Given the description of an element on the screen output the (x, y) to click on. 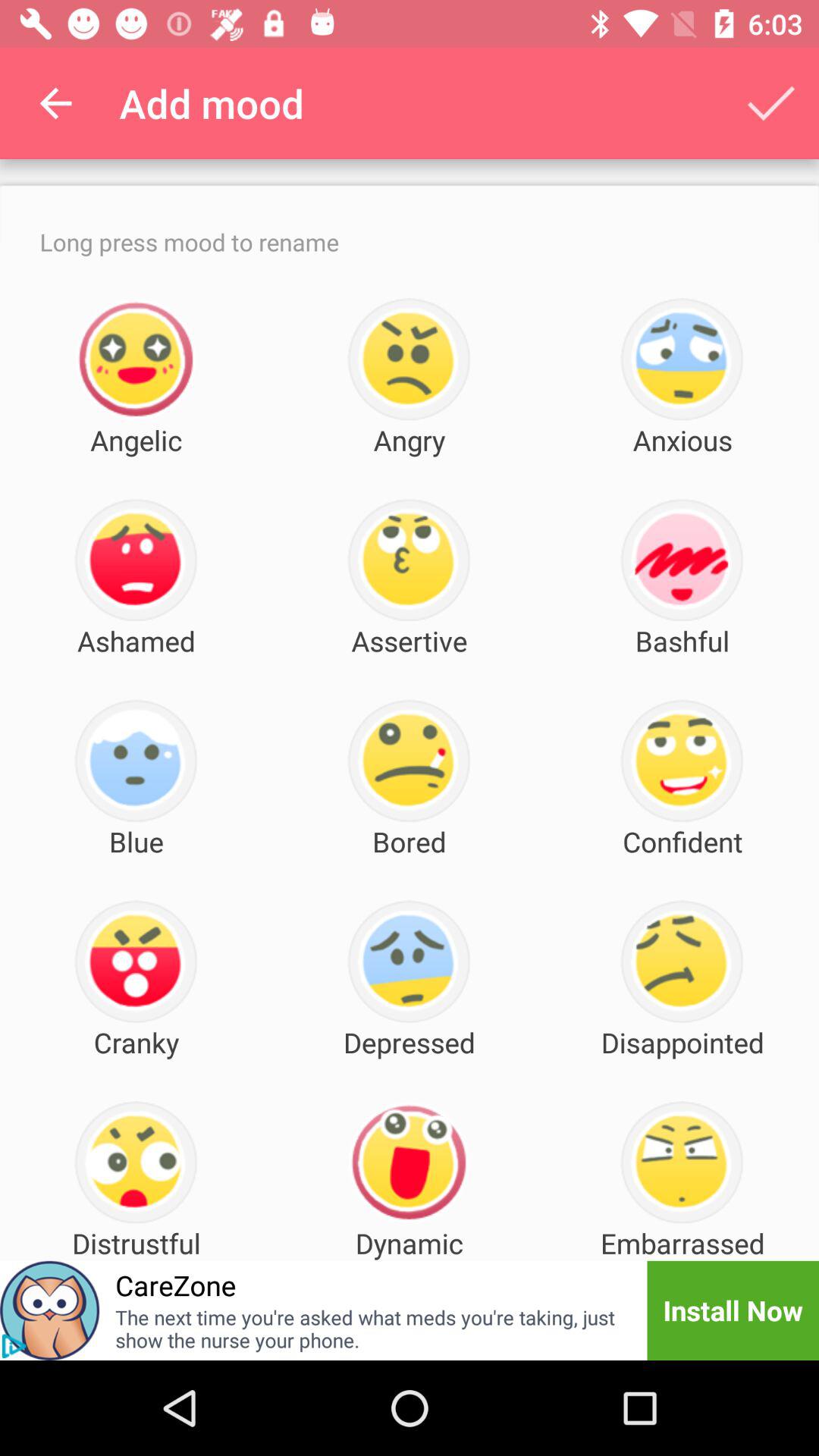
select the last emoji of the page (681, 1162)
select the icon which is just above the depressed (408, 961)
select the blue emoji (136, 761)
click on the icon above angelic (136, 360)
select the cranky emoji (136, 961)
click on the ashamed emoji (136, 561)
